Given the description of an element on the screen output the (x, y) to click on. 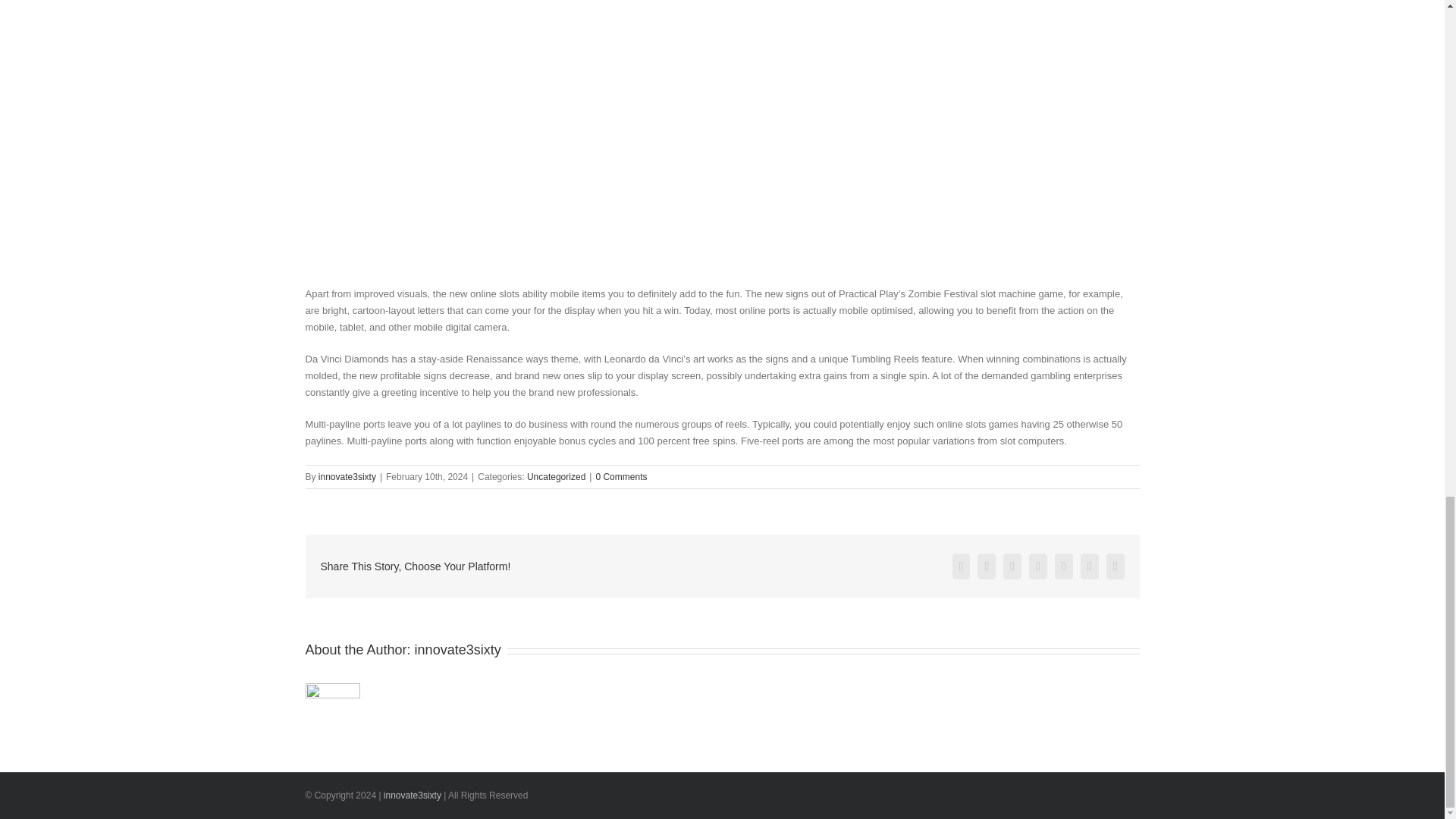
Posts by innovate3sixty (346, 476)
Posts by innovate3sixty (457, 649)
0 Comments (620, 476)
Uncategorized (556, 476)
innovate3sixty (346, 476)
